Given the description of an element on the screen output the (x, y) to click on. 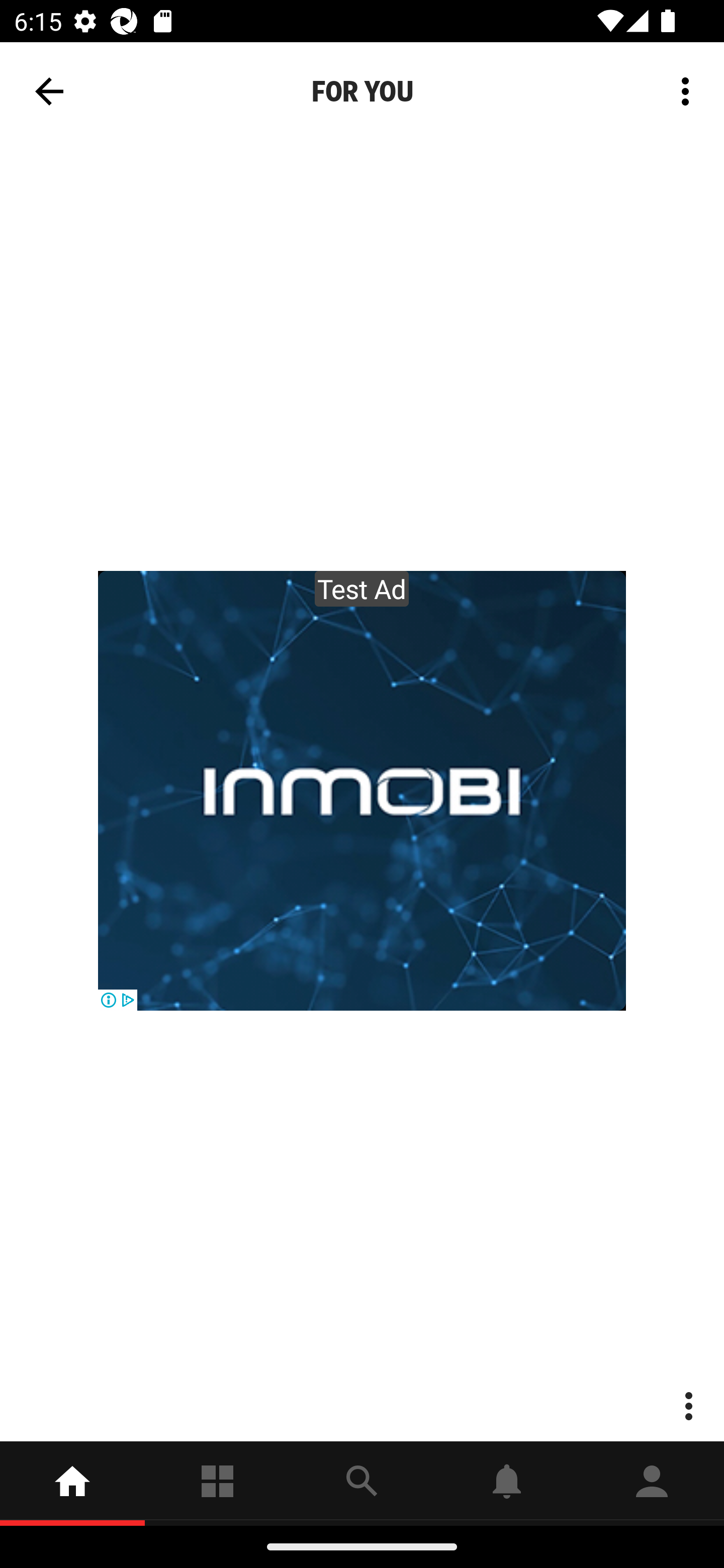
Back (49, 91)
FOR YOU (361, 91)
Edit Home (679, 81)
inmobi-creative (361, 790)
inmobi-creative (361, 790)
home (72, 1482)
Following (216, 1482)
explore (361, 1482)
Notifications (506, 1482)
Profile (651, 1482)
